Given the description of an element on the screen output the (x, y) to click on. 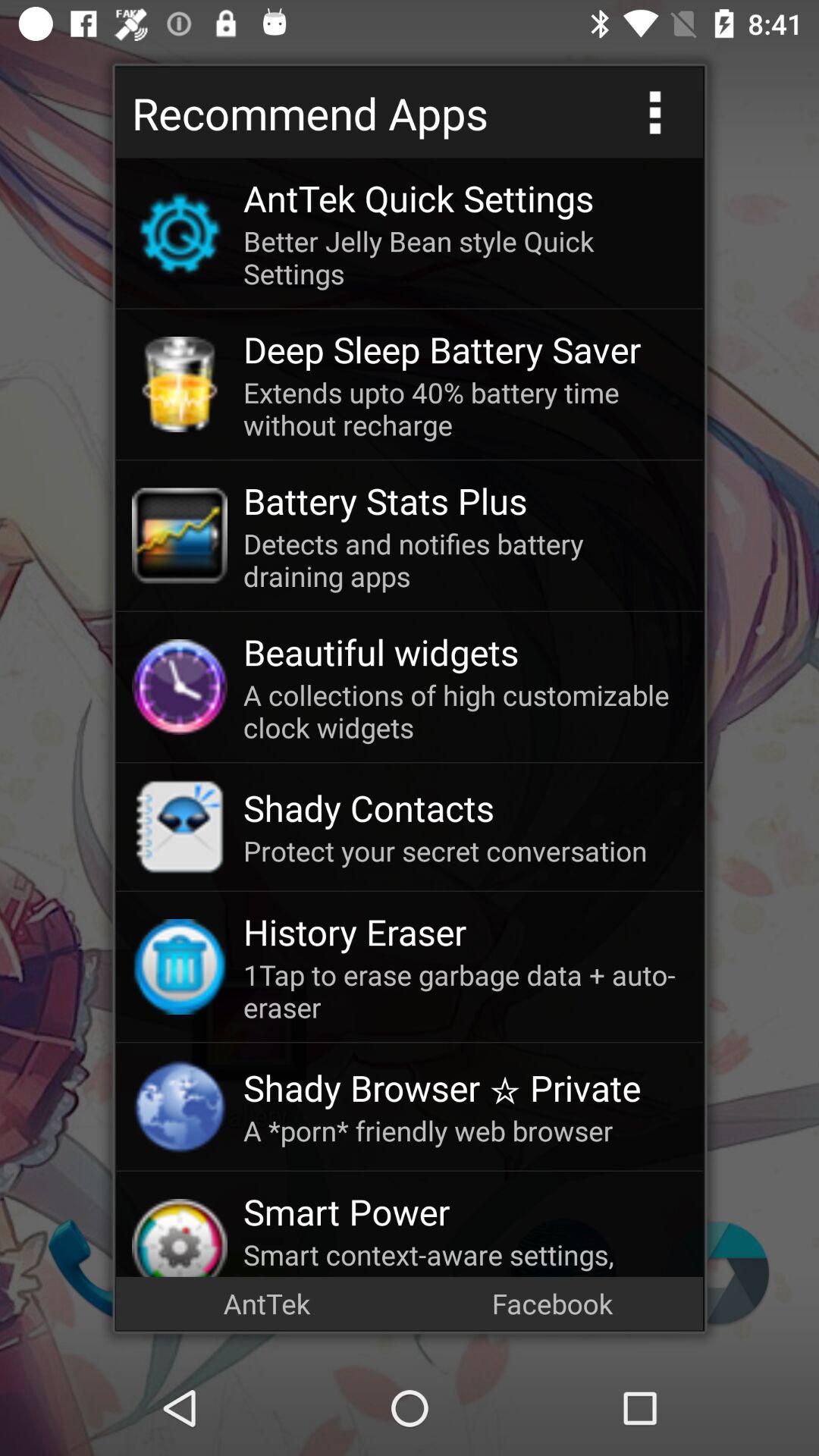
flip to the extends upto 40 item (465, 408)
